Given the description of an element on the screen output the (x, y) to click on. 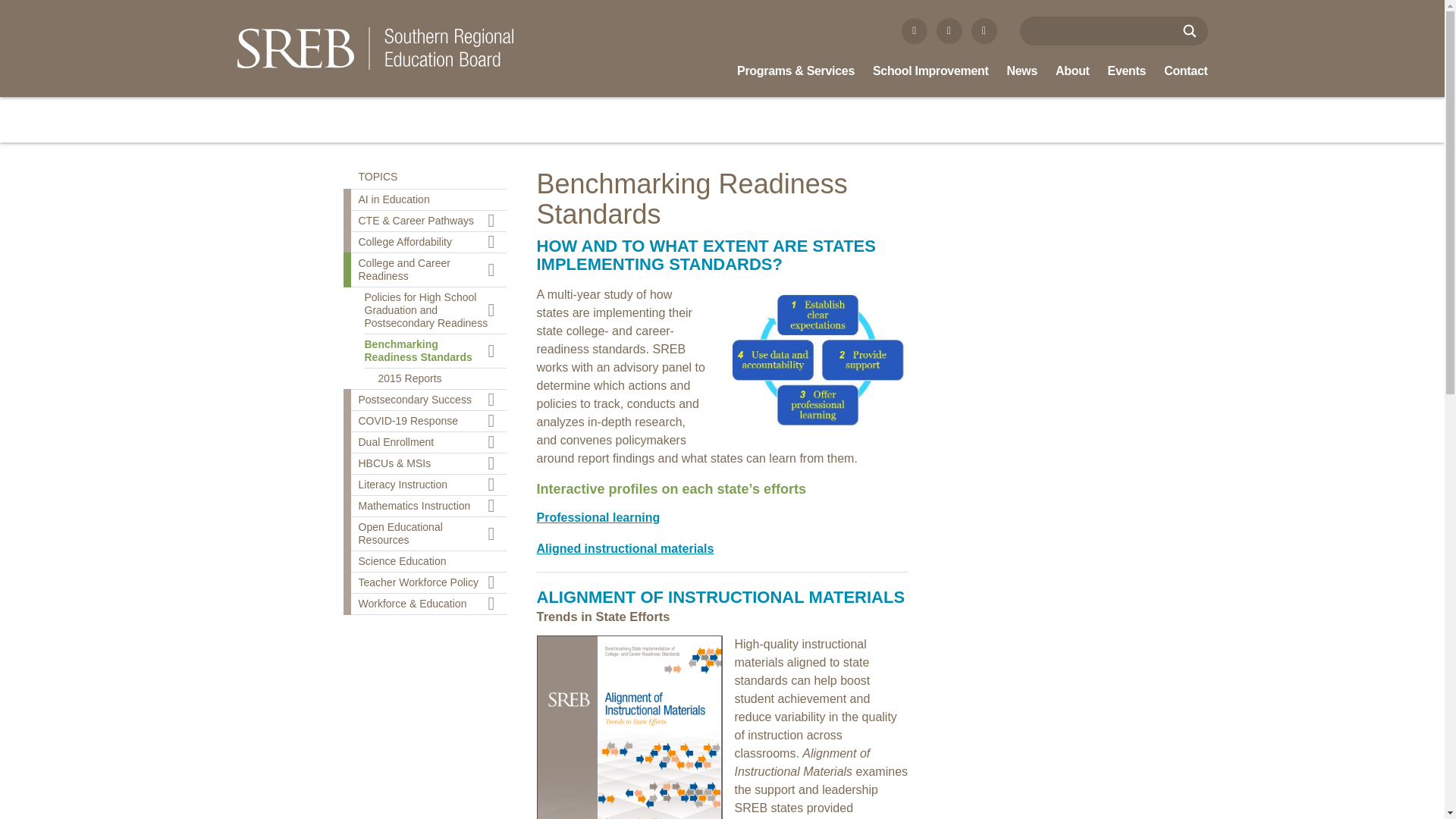
Twitter (949, 31)
School Improvement (930, 71)
Facebook (914, 31)
Linkedin (983, 31)
News (1021, 71)
Search keywords (1094, 30)
School Improvement Services (930, 71)
